Given the description of an element on the screen output the (x, y) to click on. 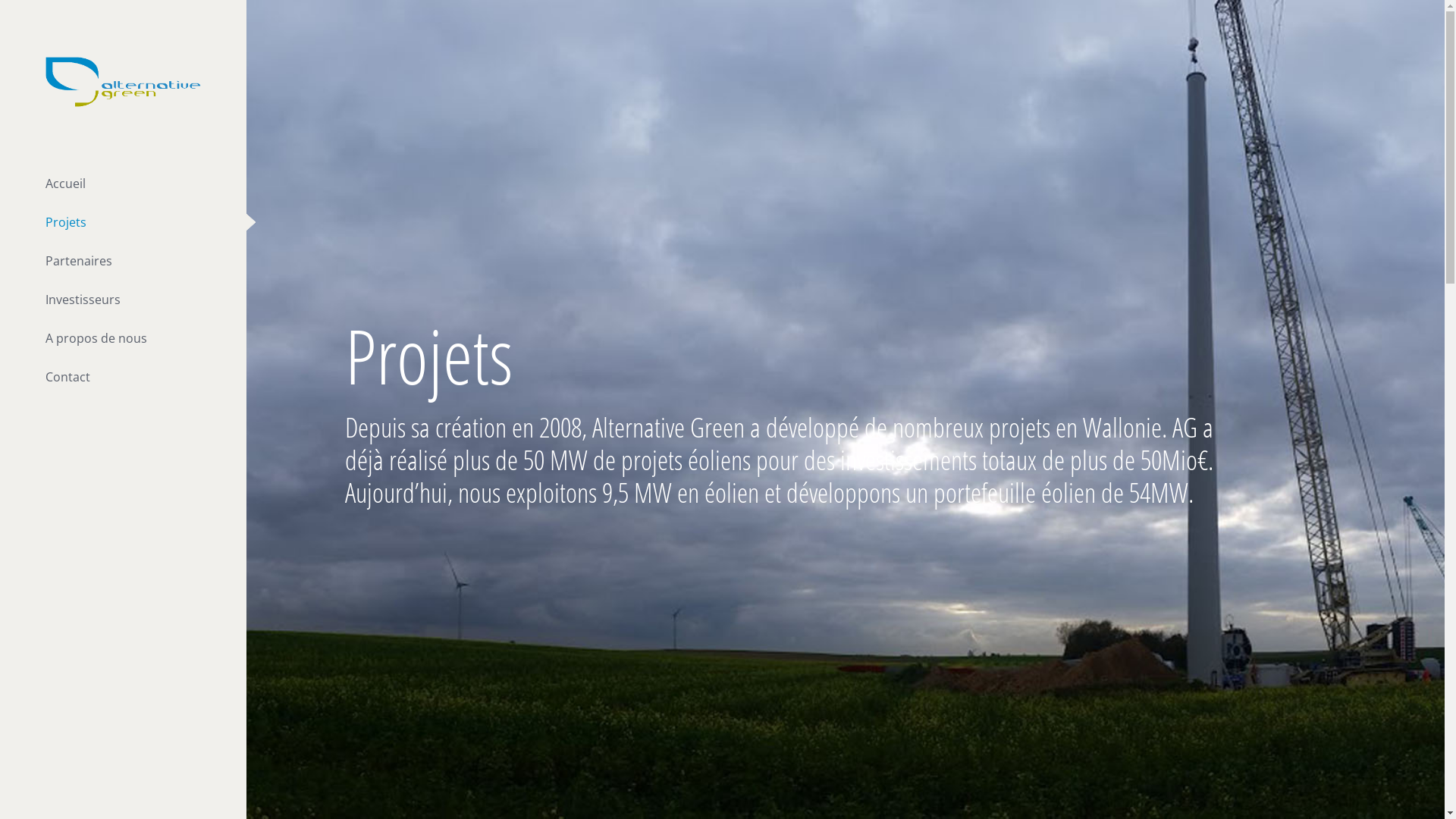
Contact Element type: text (123, 376)
Accueil Element type: text (123, 183)
Investisseurs Element type: text (123, 299)
Partenaires Element type: text (123, 260)
Projets Element type: text (123, 222)
A propos de nous Element type: text (123, 338)
